Given the description of an element on the screen output the (x, y) to click on. 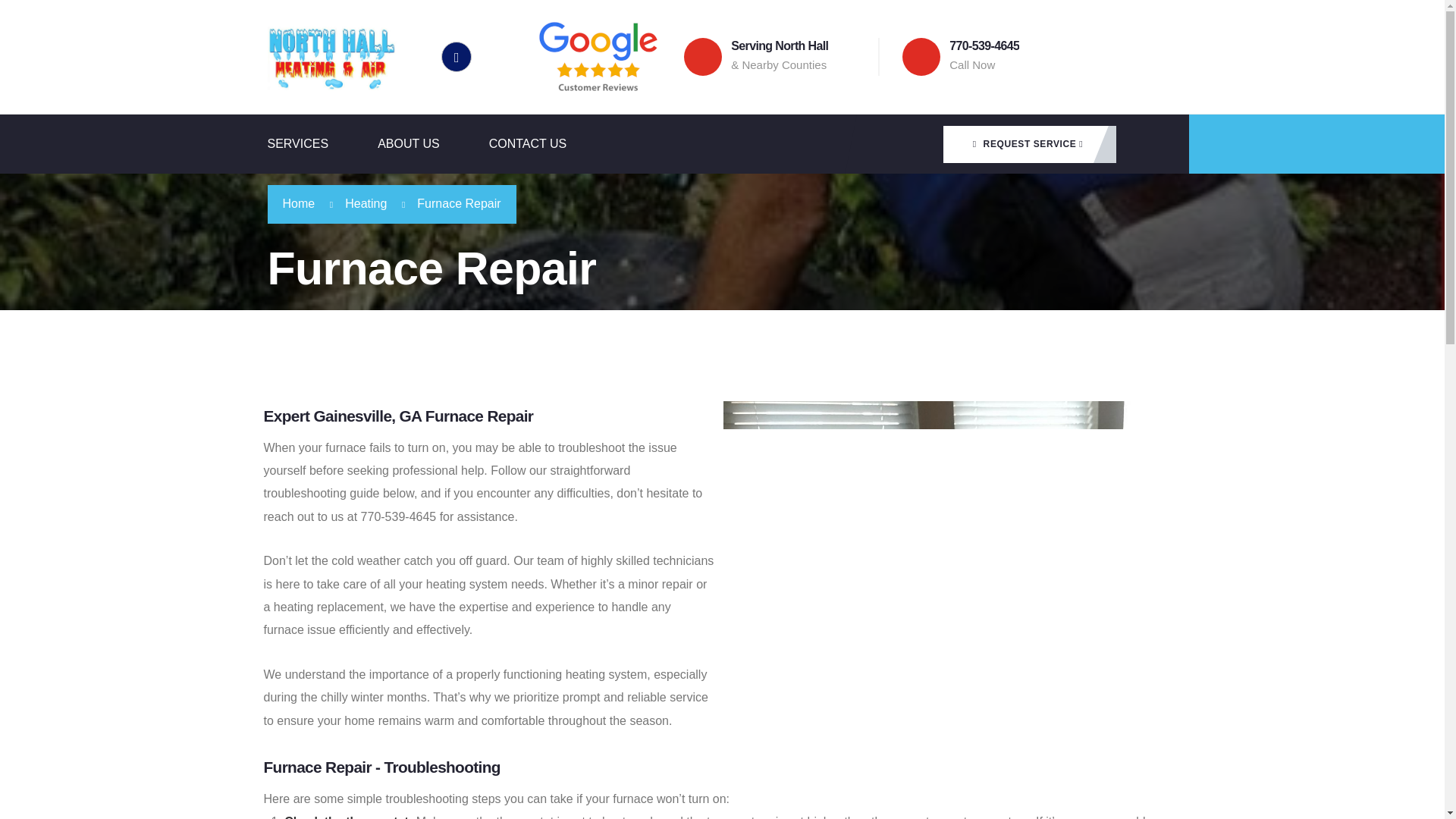
CONTACT US (552, 143)
770-539-4645 (984, 45)
Heating (366, 203)
About Us (433, 143)
Services (321, 143)
ABOUT US (433, 143)
REQUEST SERVICE (1029, 144)
SERVICES (321, 143)
Contact Us (552, 143)
Home (298, 203)
